Given the description of an element on the screen output the (x, y) to click on. 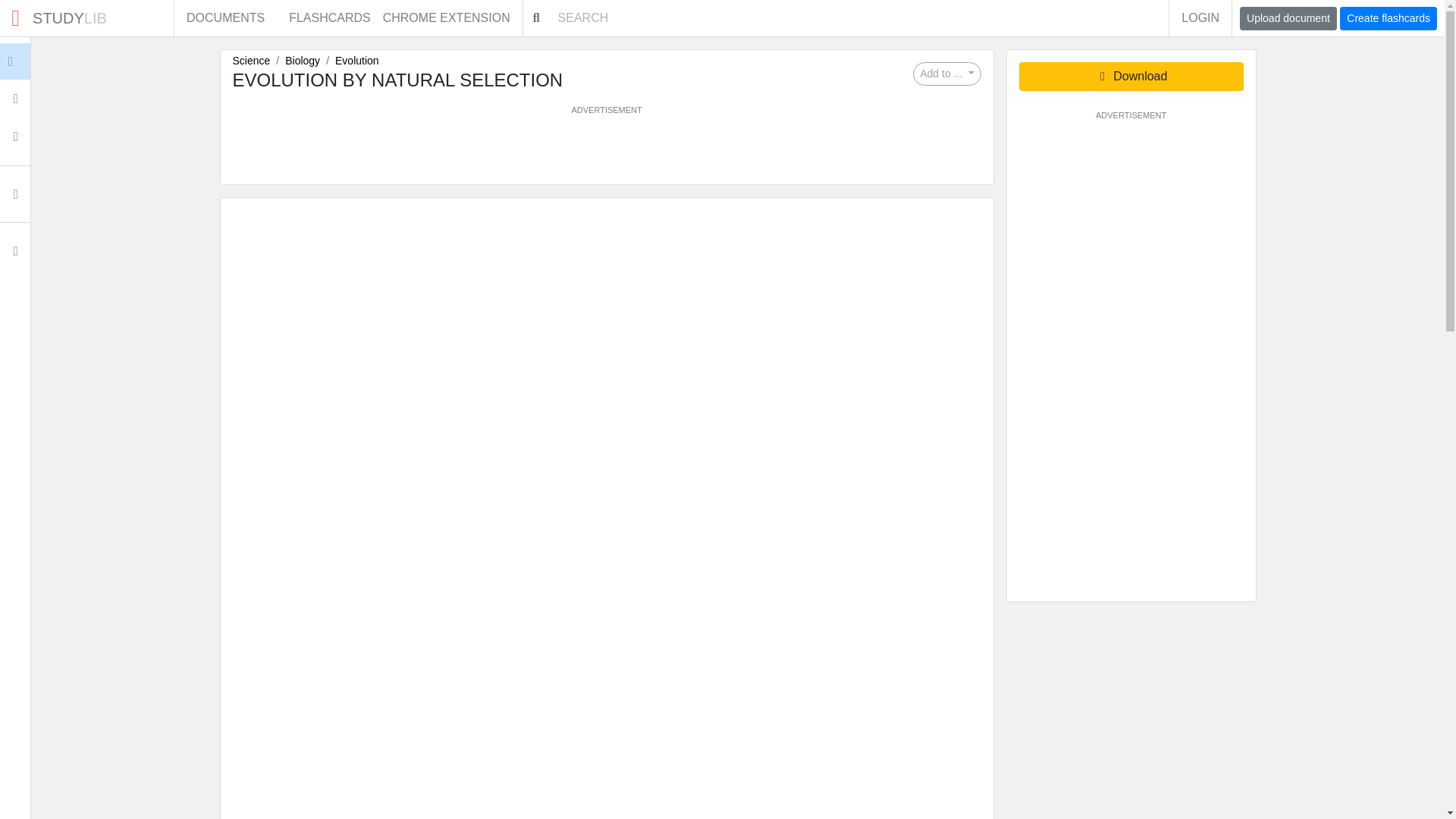
Biology (86, 18)
Evolution (302, 60)
Advertisement (356, 60)
FLASHCARDS (605, 150)
Upload document (329, 18)
Create flashcards (1288, 18)
Login (1388, 18)
Science (45, 61)
LOGIN (250, 60)
DOCUMENTS (1200, 18)
Add to ... (225, 18)
CHROME EXTENSION (946, 73)
